Given the description of an element on the screen output the (x, y) to click on. 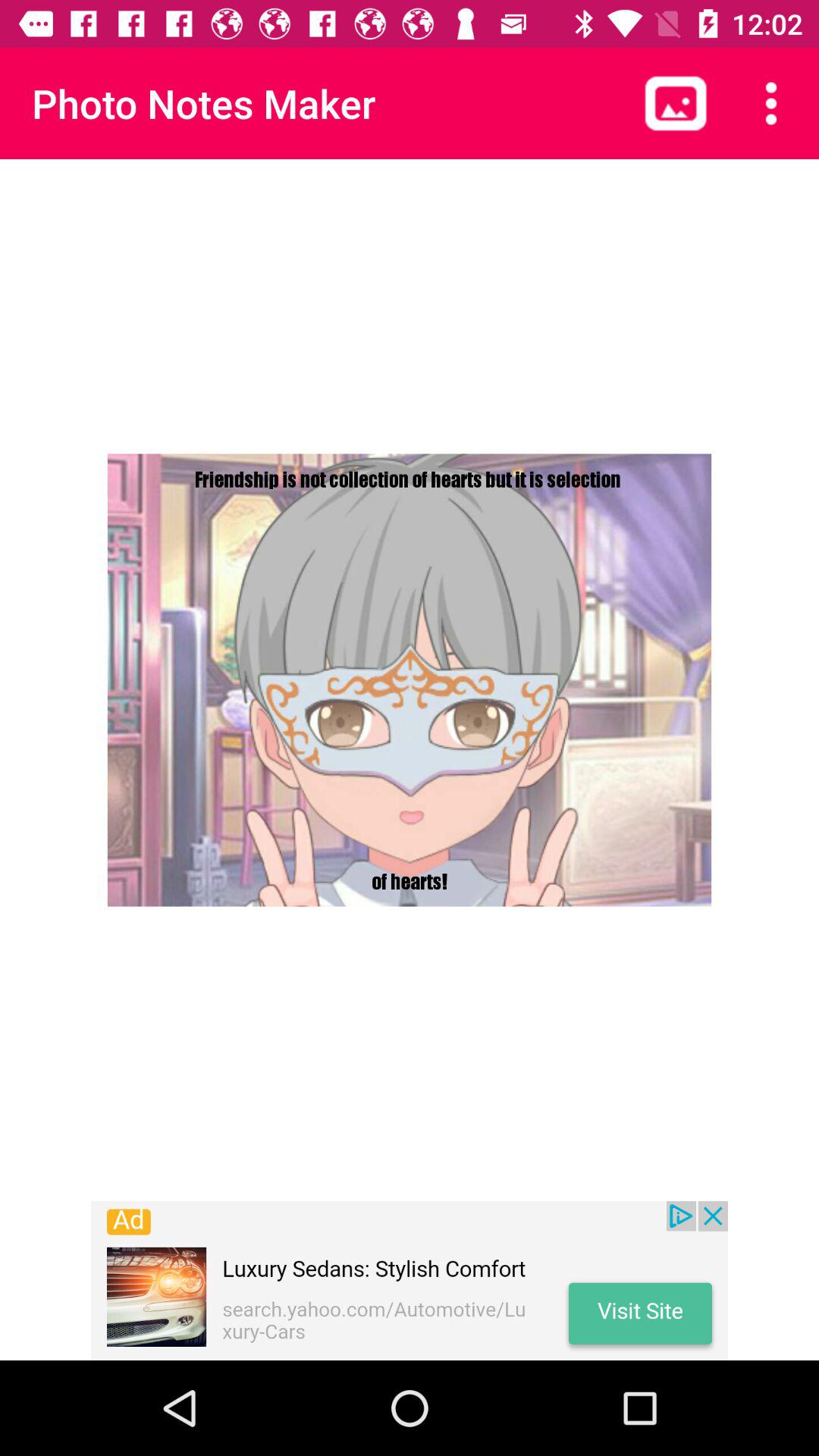
menu (771, 103)
